Given the description of an element on the screen output the (x, y) to click on. 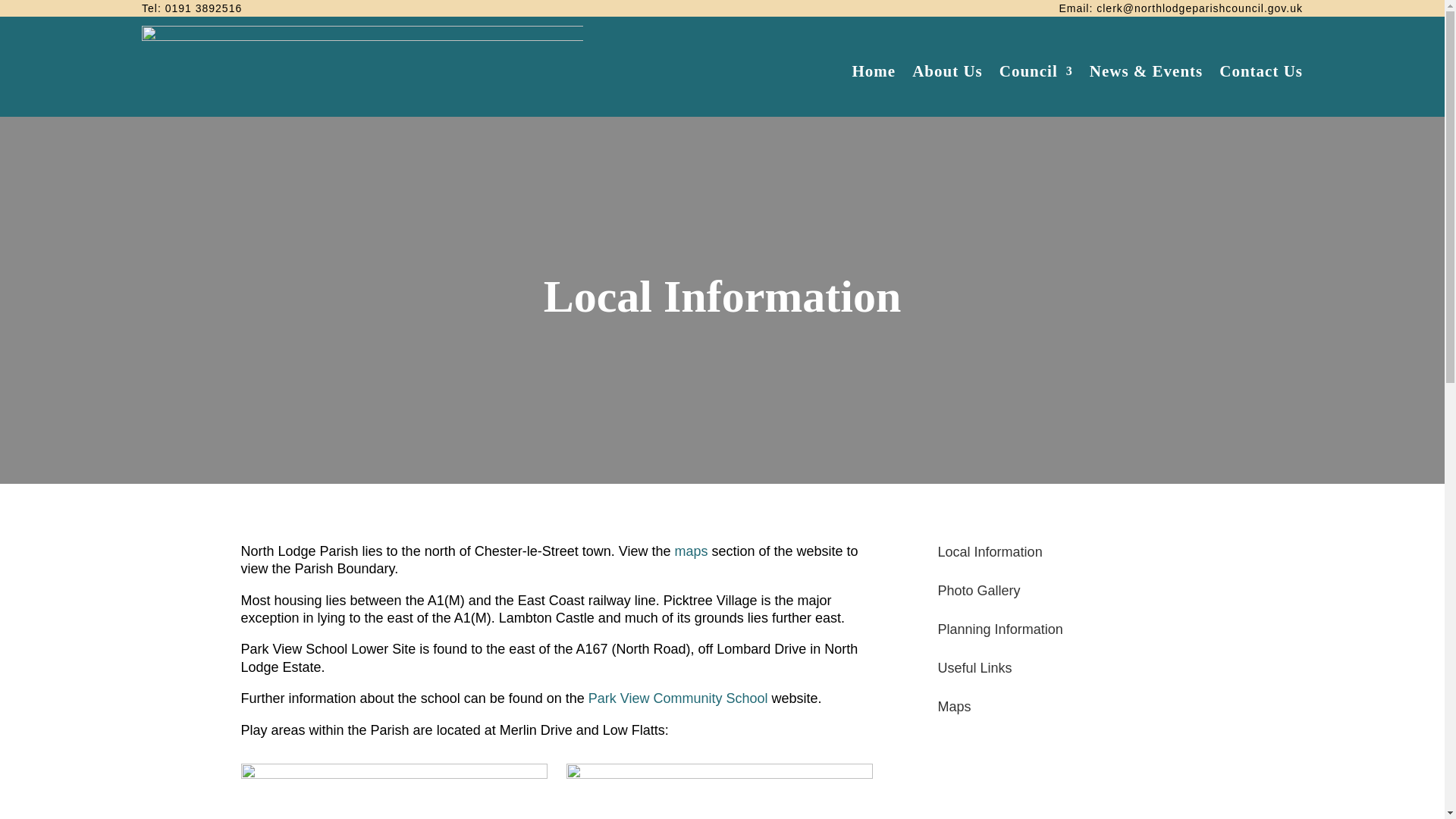
maps (690, 550)
Contact Us (1261, 71)
OLYMPUS DIGITAL CAMERA (719, 791)
Park View Community School (678, 698)
OLYMPUS DIGITAL CAMERA (394, 791)
